Given the description of an element on the screen output the (x, y) to click on. 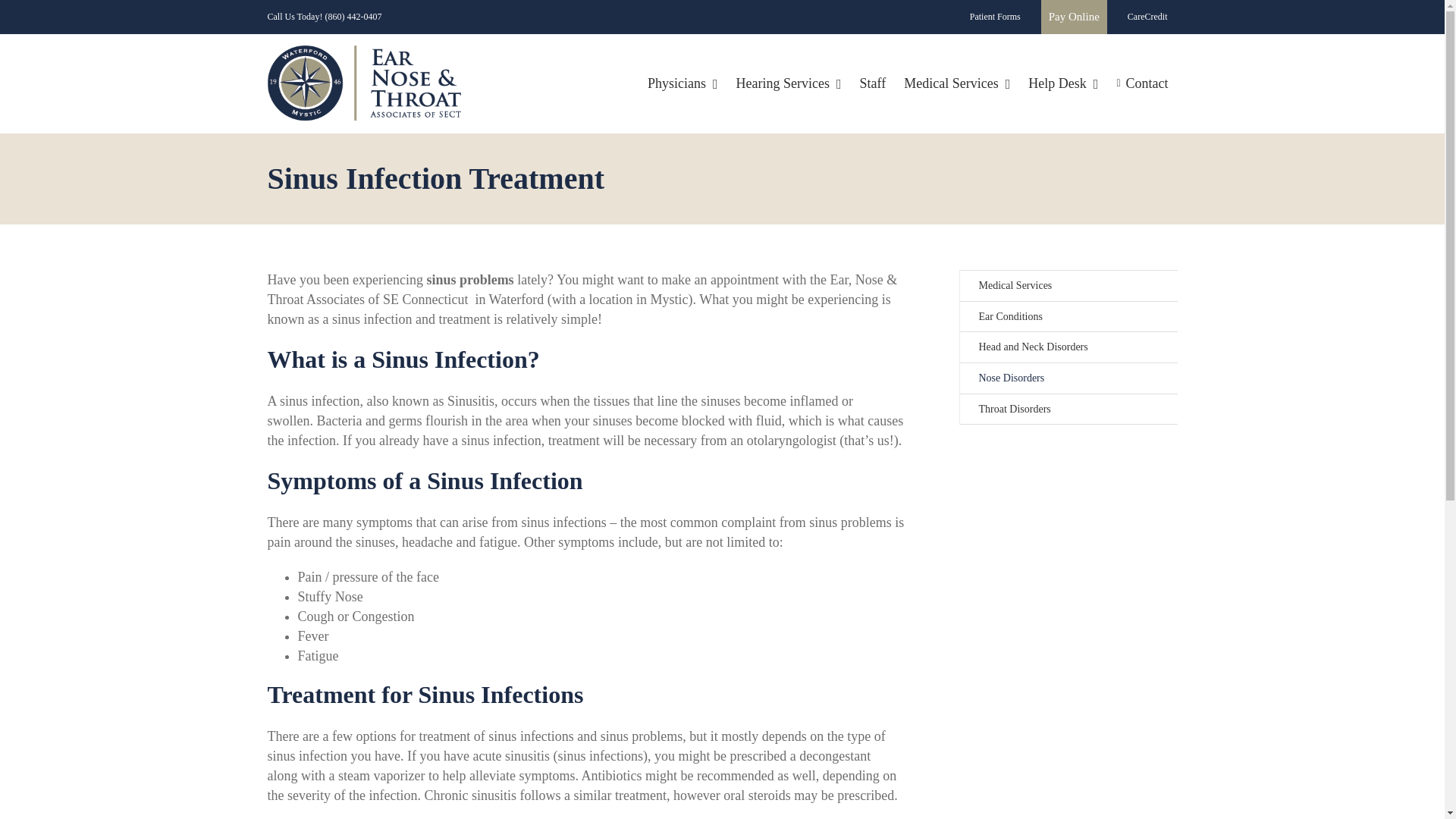
Ear Conditions (1068, 317)
Medical Services (957, 83)
Head and Neck Disorders (1068, 347)
Patient Forms (994, 16)
Physicians (682, 83)
Pay Online (1073, 16)
Medical Services (1068, 286)
Hearing Services (788, 83)
Back to Parent Page (1068, 286)
Throat Disorders (1068, 409)
Help Desk (1062, 83)
Nose Disorders (1068, 378)
CareCredit (1147, 16)
